Given the description of an element on the screen output the (x, y) to click on. 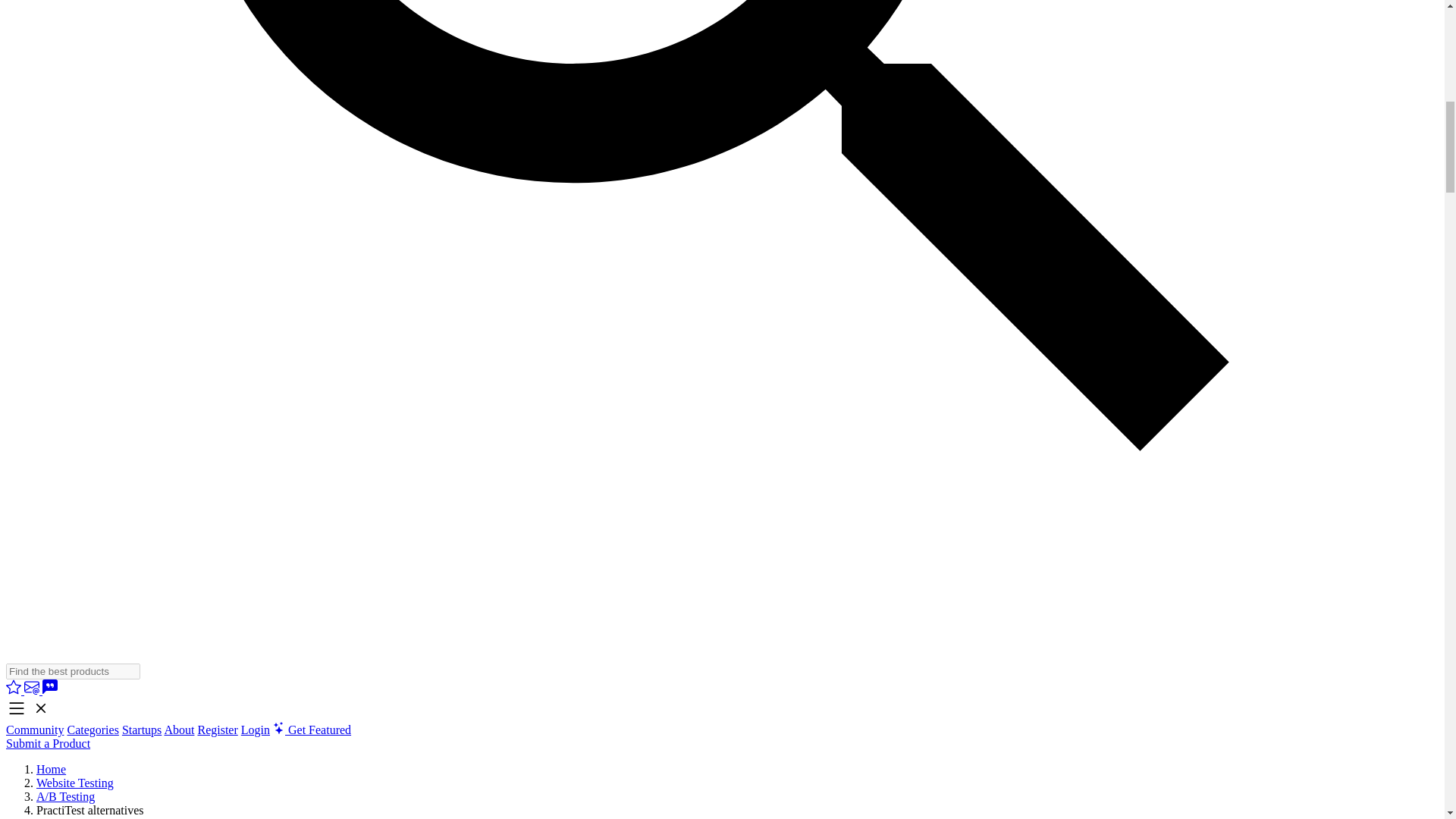
About (178, 729)
My Saved Products (14, 689)
Community (34, 729)
Get Featured (311, 729)
Home (50, 768)
Login (255, 729)
SaaSHub Weekly - our newsletter (33, 689)
Submit a Product (47, 743)
Register (216, 729)
Website Testing (74, 782)
Categories (91, 729)
Startups (141, 729)
